Given the description of an element on the screen output the (x, y) to click on. 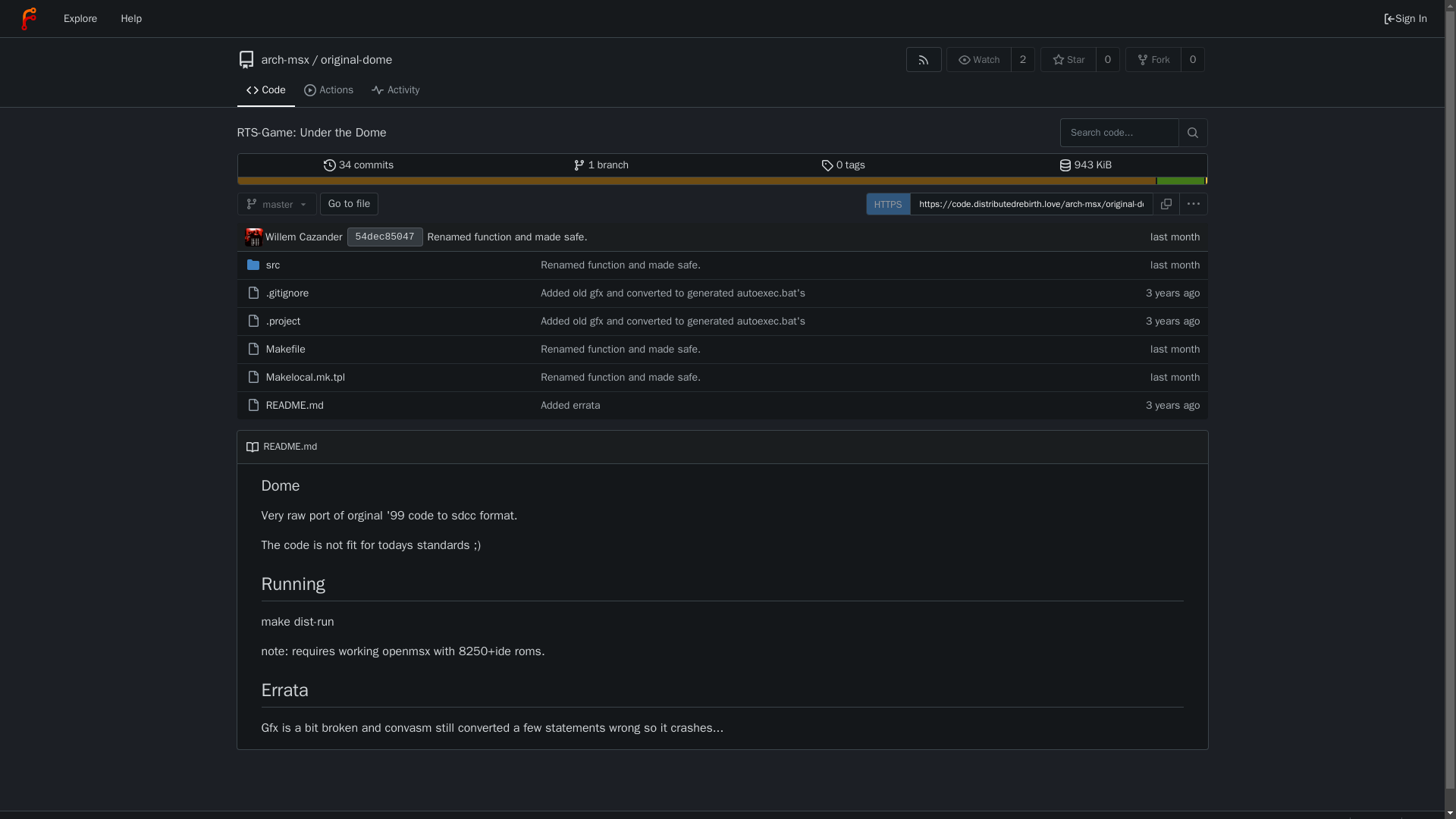
Activity (395, 91)
master (276, 203)
Help (130, 17)
Willem Cazander (253, 237)
Renamed function and made safe. (783, 237)
2 (1022, 59)
original-dome (355, 59)
Makefile (285, 348)
Willem Cazander (303, 237)
Go to file (349, 203)
